Given the description of an element on the screen output the (x, y) to click on. 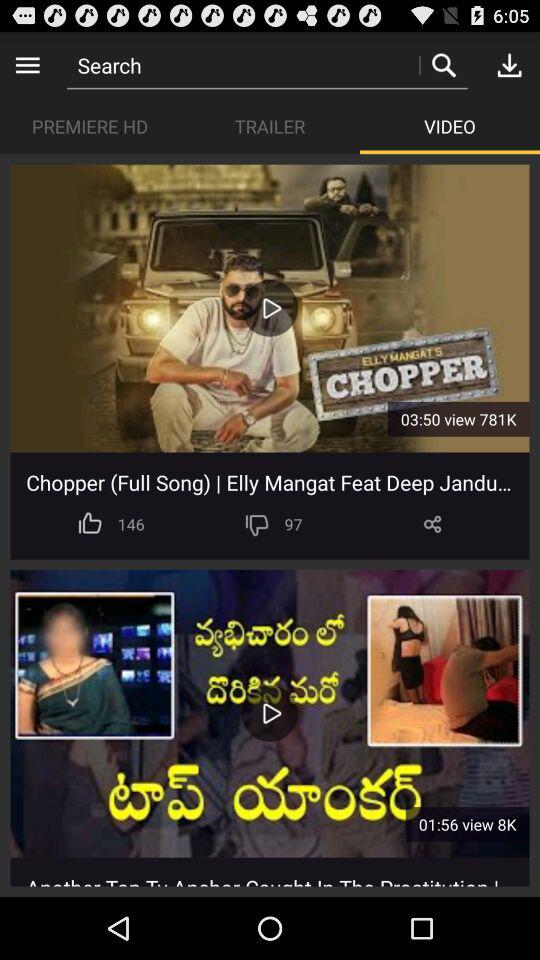
tap app to the right of 146 icon (256, 523)
